Given the description of an element on the screen output the (x, y) to click on. 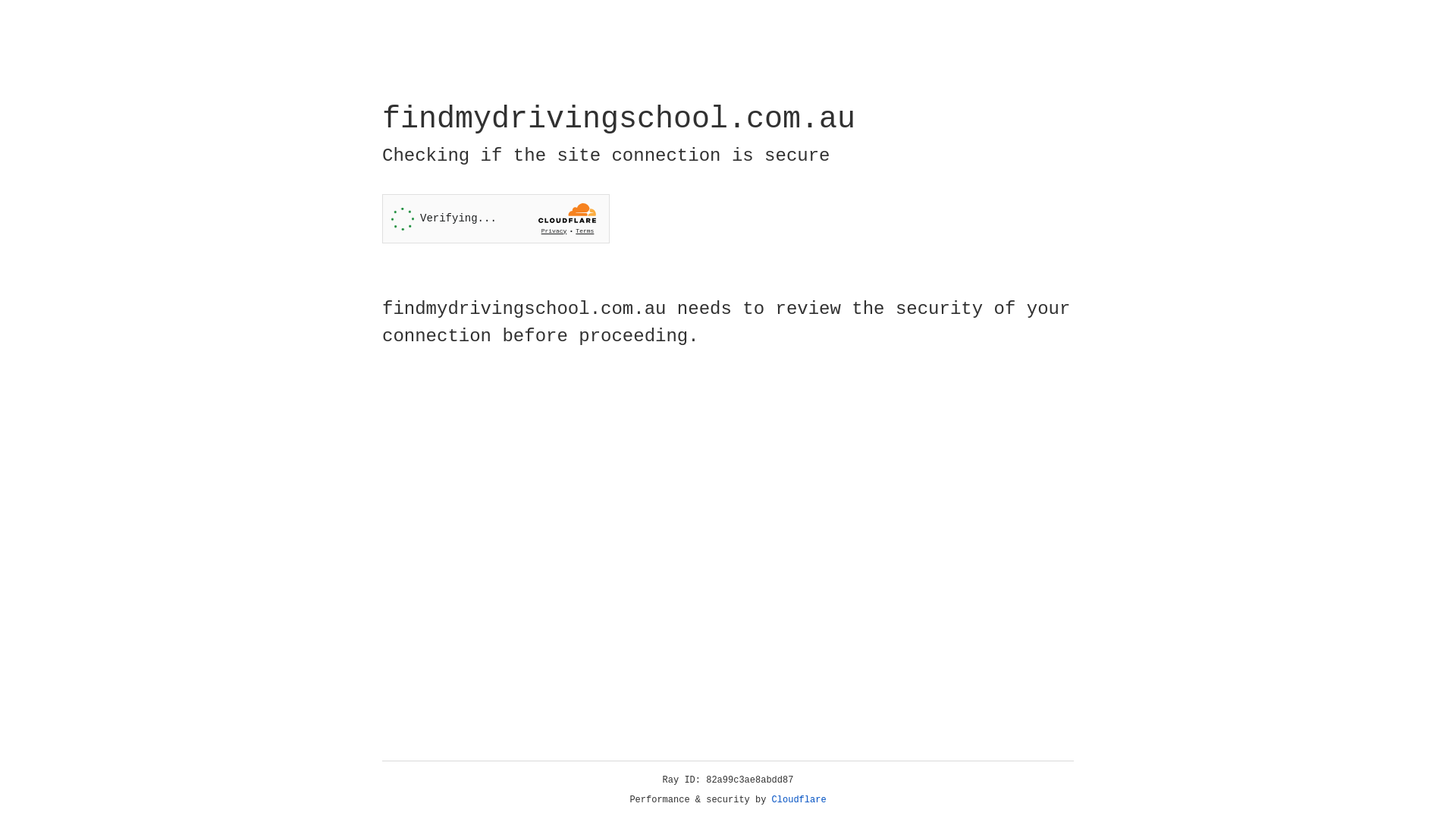
Widget containing a Cloudflare security challenge Element type: hover (495, 218)
Cloudflare Element type: text (798, 799)
